Given the description of an element on the screen output the (x, y) to click on. 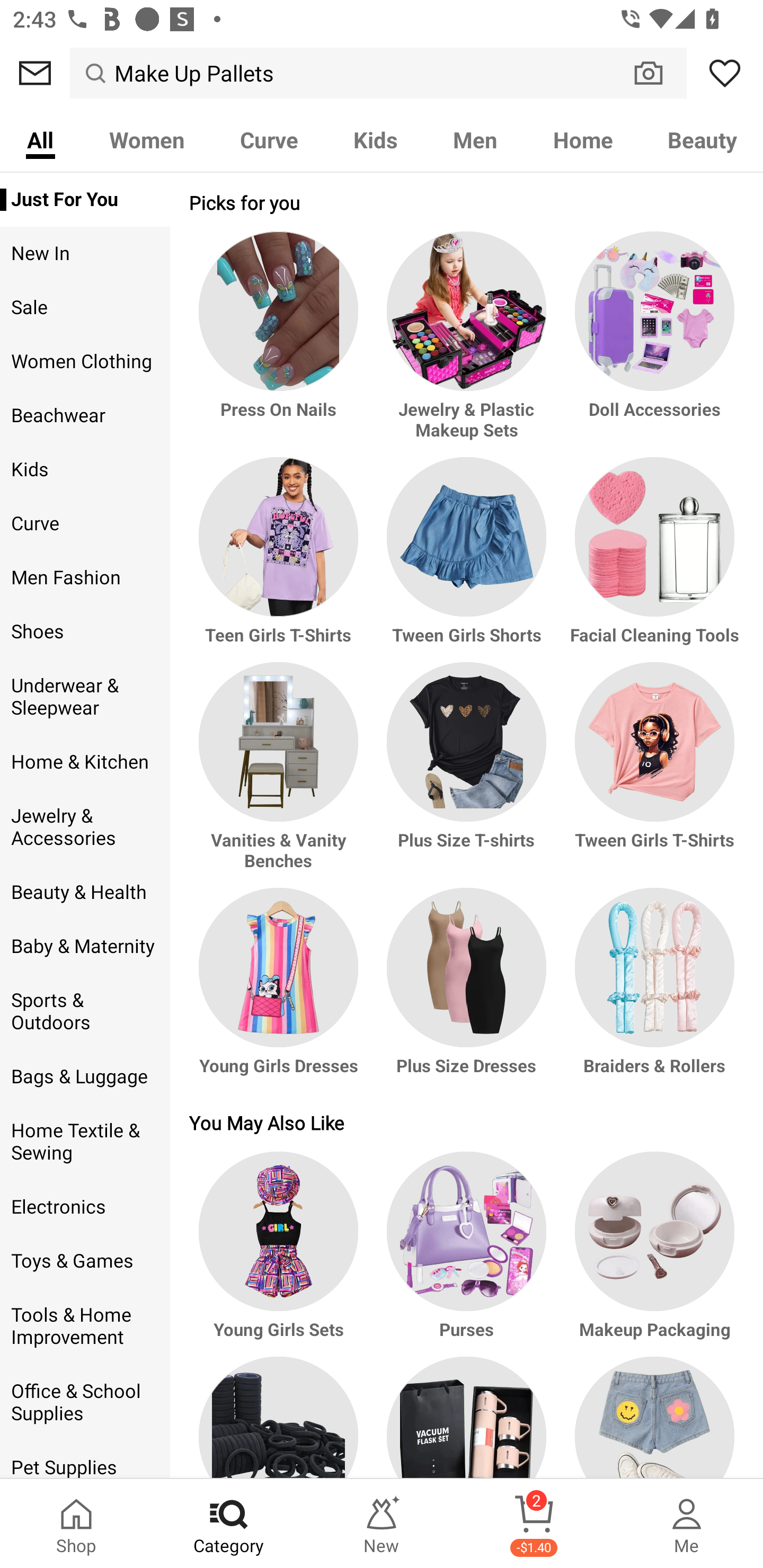
Wishlist (724, 72)
VISUAL SEARCH (657, 72)
All (40, 139)
Women (146, 139)
Curve (268, 139)
Kids (375, 139)
Men (474, 139)
Home (582, 139)
Beauty (701, 139)
Just For You (85, 199)
Picks for you (466, 202)
New In (85, 253)
Press On Nails (281, 344)
Jewelry & Plastic Makeup Sets (466, 344)
Doll Accessories (651, 344)
Sale (85, 307)
Women Clothing (85, 361)
Beachwear (85, 415)
Kids (85, 469)
Teen Girls T-Shirts (281, 559)
Tween Girls Shorts (466, 559)
Facial Cleaning Tools (651, 559)
Curve (85, 523)
Men Fashion (85, 577)
Shoes (85, 631)
Underwear & Sleepwear (85, 696)
Vanities & Vanity Benches (281, 774)
Plus Size T-shirts (466, 774)
Tween Girls T-Shirts (651, 774)
Home & Kitchen (85, 761)
Jewelry & Accessories (85, 826)
Beauty & Health (85, 891)
Young Girls Dresses (281, 989)
Plus Size Dresses (466, 989)
Braiders & Rollers (651, 989)
Baby & Maternity (85, 945)
Sports & Outdoors (85, 1011)
Bags & Luggage (85, 1076)
You May Also Like (466, 1121)
Home Textile & Sewing (85, 1141)
Young Girls Sets (281, 1253)
Purses (466, 1253)
Makeup Packaging (651, 1253)
Electronics (85, 1207)
Toys & Games (85, 1261)
Tools & Home Improvement (85, 1326)
Office & School Supplies (85, 1402)
Pet Supplies (85, 1459)
Shop (76, 1523)
New (381, 1523)
Cart 2 -$1.40 (533, 1523)
Me (686, 1523)
